Given the description of an element on the screen output the (x, y) to click on. 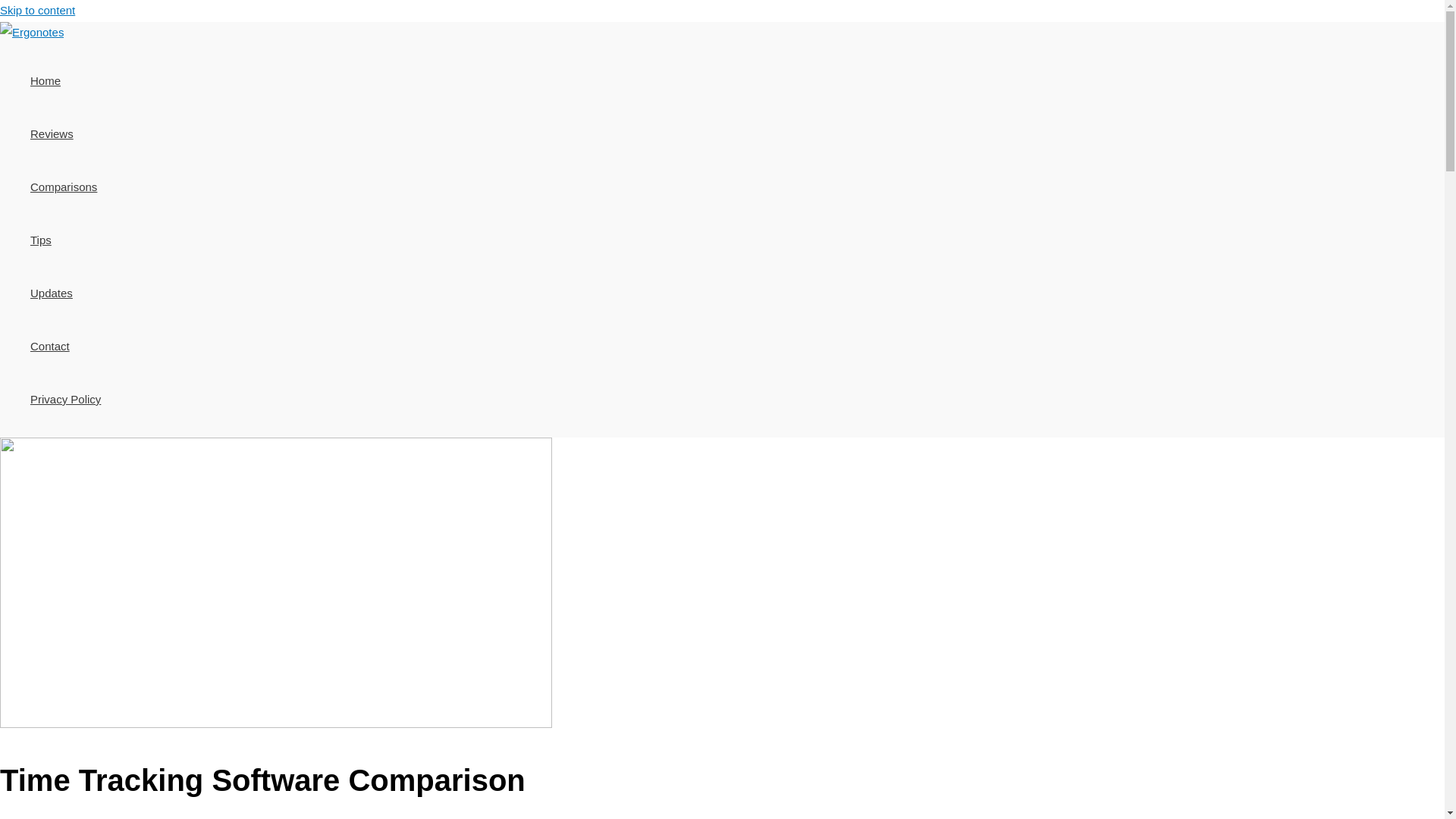
Home (65, 80)
Reviews (65, 133)
Comparisons (65, 186)
Tips (65, 239)
Updates (65, 293)
Skip to content (37, 10)
Privacy Policy (65, 399)
Contact (65, 346)
Skip to content (37, 10)
